Given the description of an element on the screen output the (x, y) to click on. 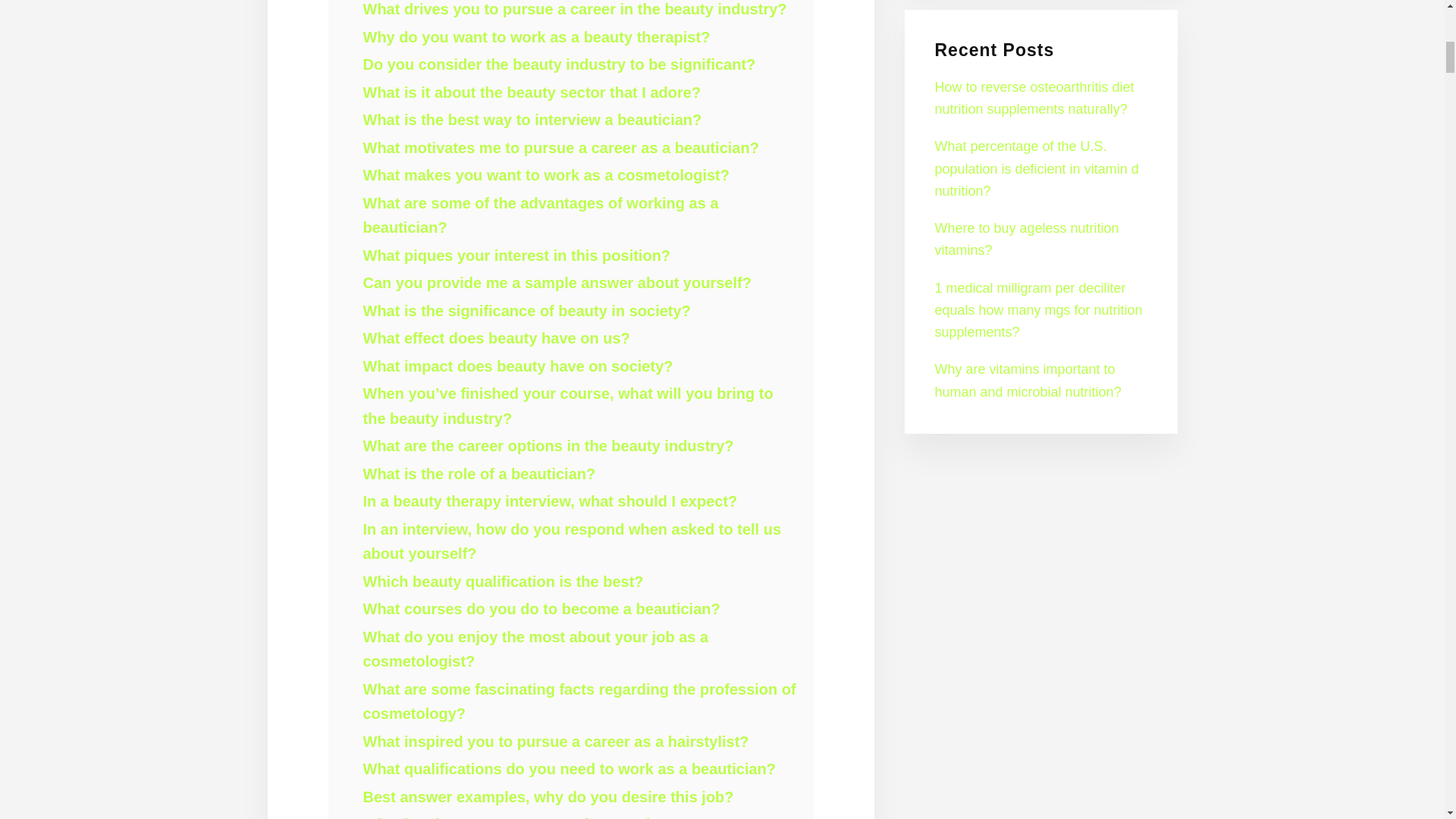
Why do you want to work as a beauty therapist? (536, 36)
What drives you to pursue a career in the beauty industry? (574, 8)
